Given the description of an element on the screen output the (x, y) to click on. 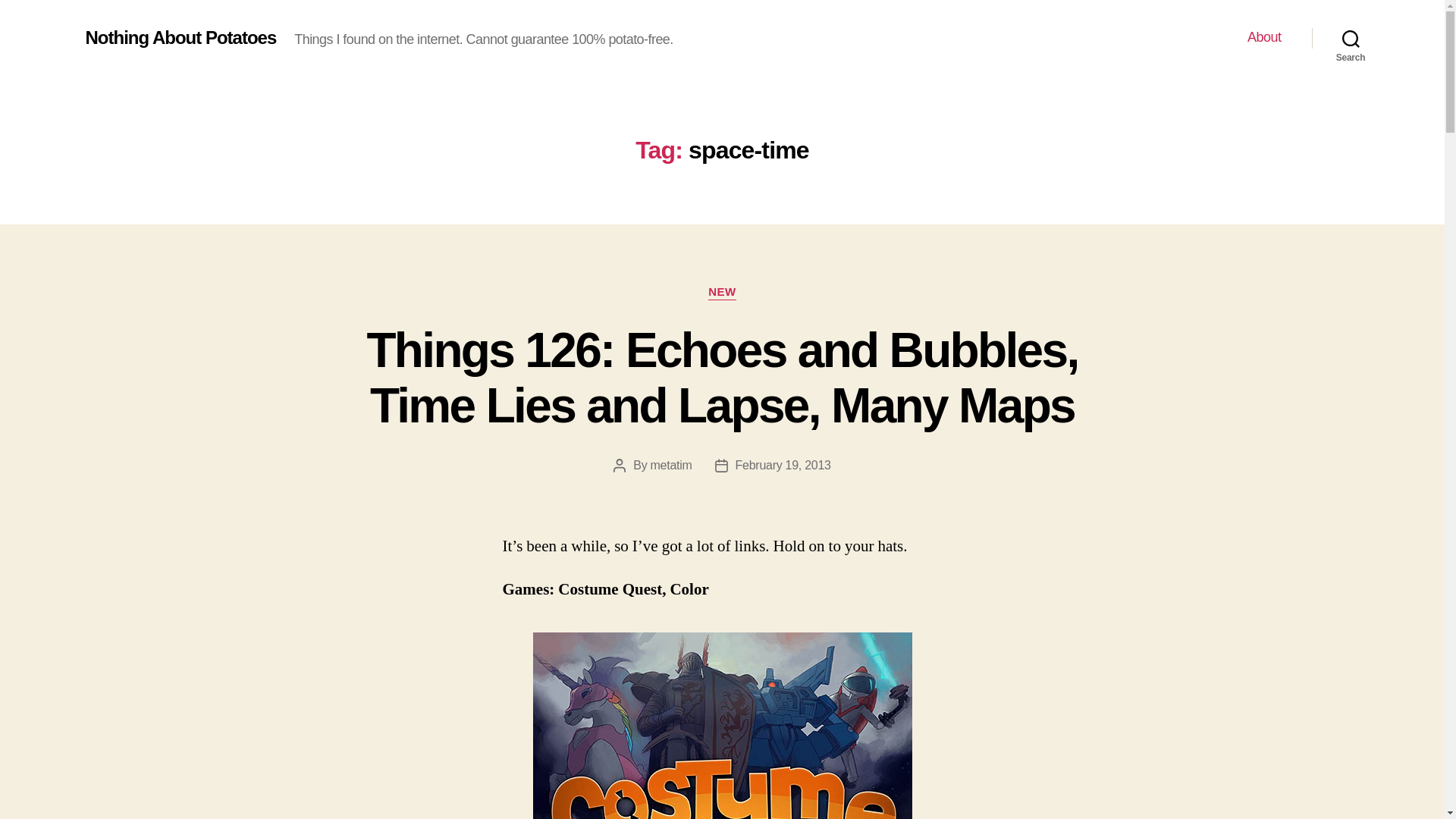
Nothing About Potatoes (180, 37)
metatim (671, 464)
Costume Quest (721, 725)
Search (1350, 37)
About (1264, 37)
NEW (721, 292)
February 19, 2013 (783, 464)
